Given the description of an element on the screen output the (x, y) to click on. 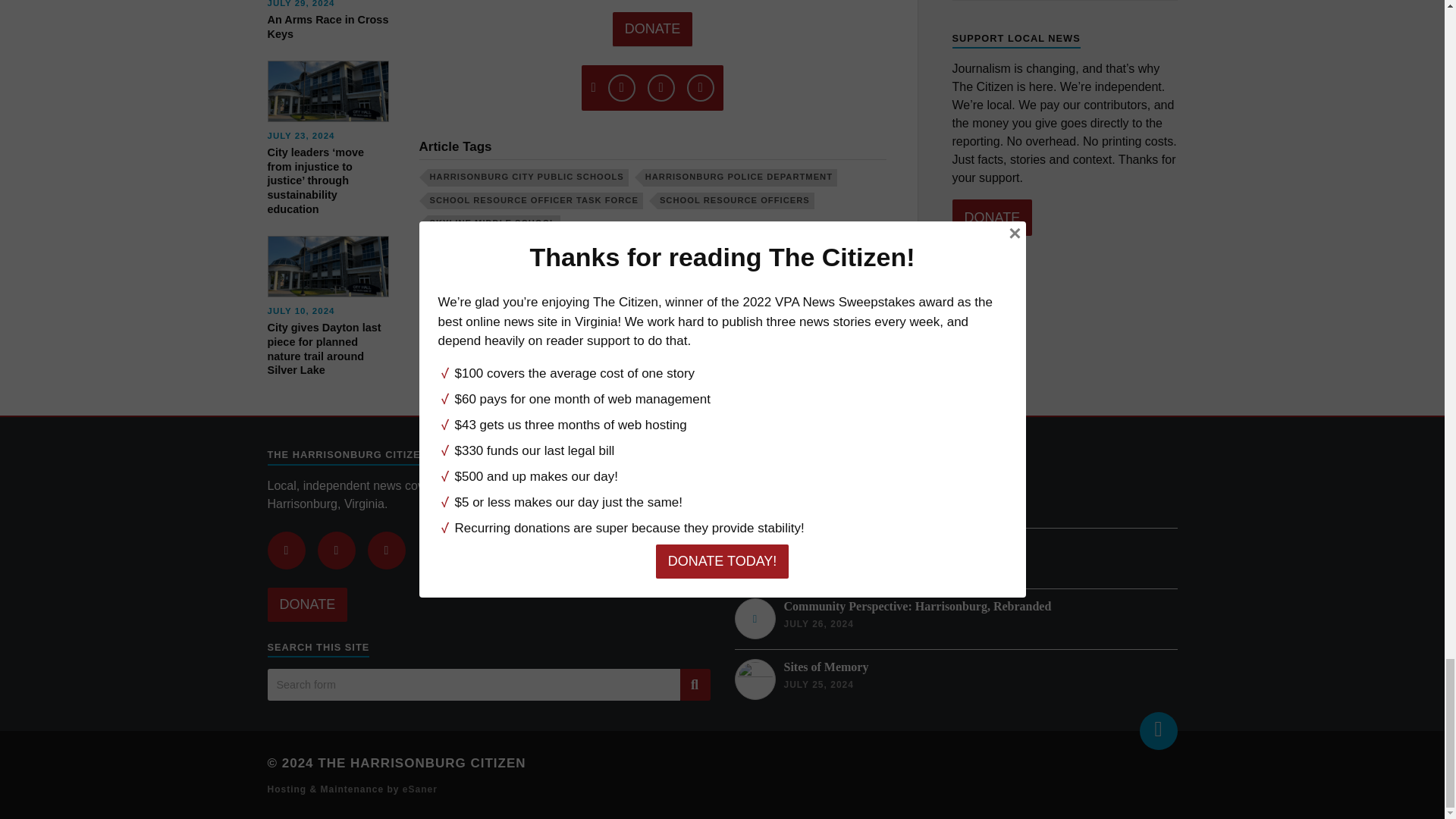
HARRISONBURG CITY PUBLIC SCHOOLS (528, 176)
DONATE (652, 29)
To the top (1157, 730)
Share on Twitter (621, 87)
Share on Facebook (661, 87)
Share on LinkedIn (700, 87)
HARRISONBURG POLICE DEPARTMENT (740, 176)
SCHOOL RESOURCE OFFICER TASK FORCE (535, 200)
